Given the description of an element on the screen output the (x, y) to click on. 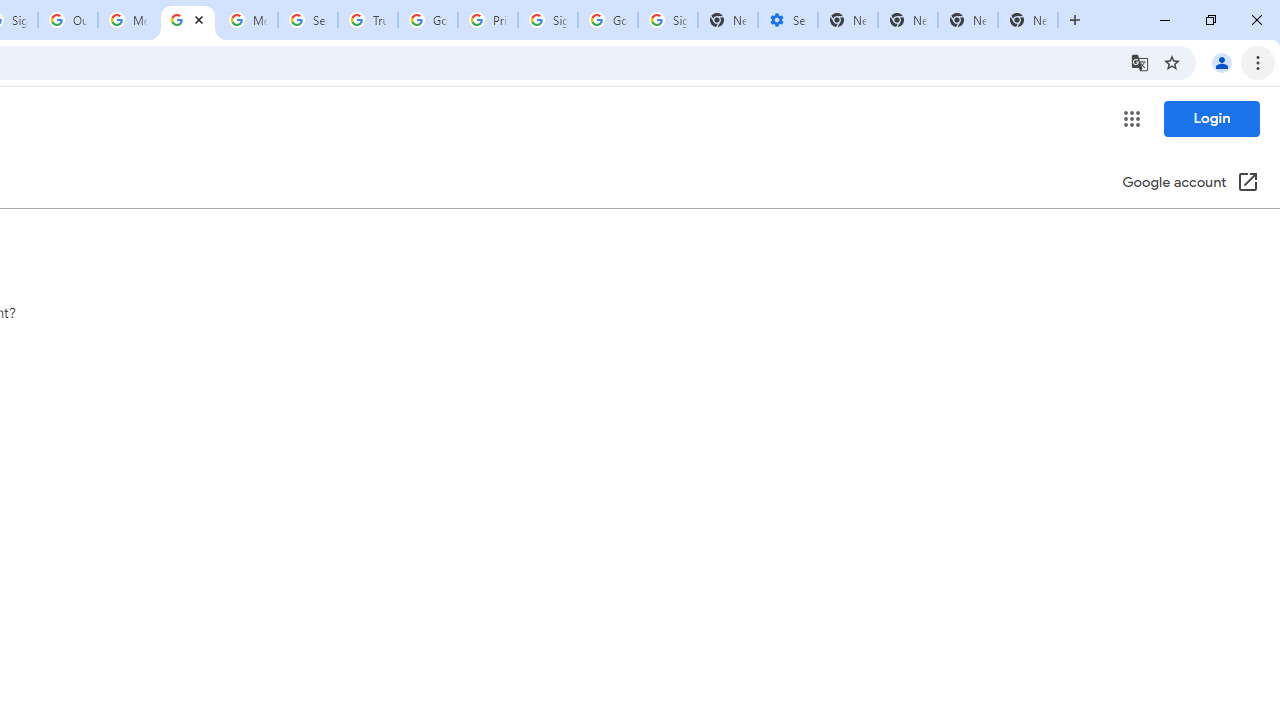
Sign in - Google Accounts (667, 20)
Google Ads - Sign in (428, 20)
Search our Doodle Library Collection - Google Doodles (307, 20)
Trusted Information and Content - Google Safety Center (367, 20)
Sign in - Google Accounts (548, 20)
